Given the description of an element on the screen output the (x, y) to click on. 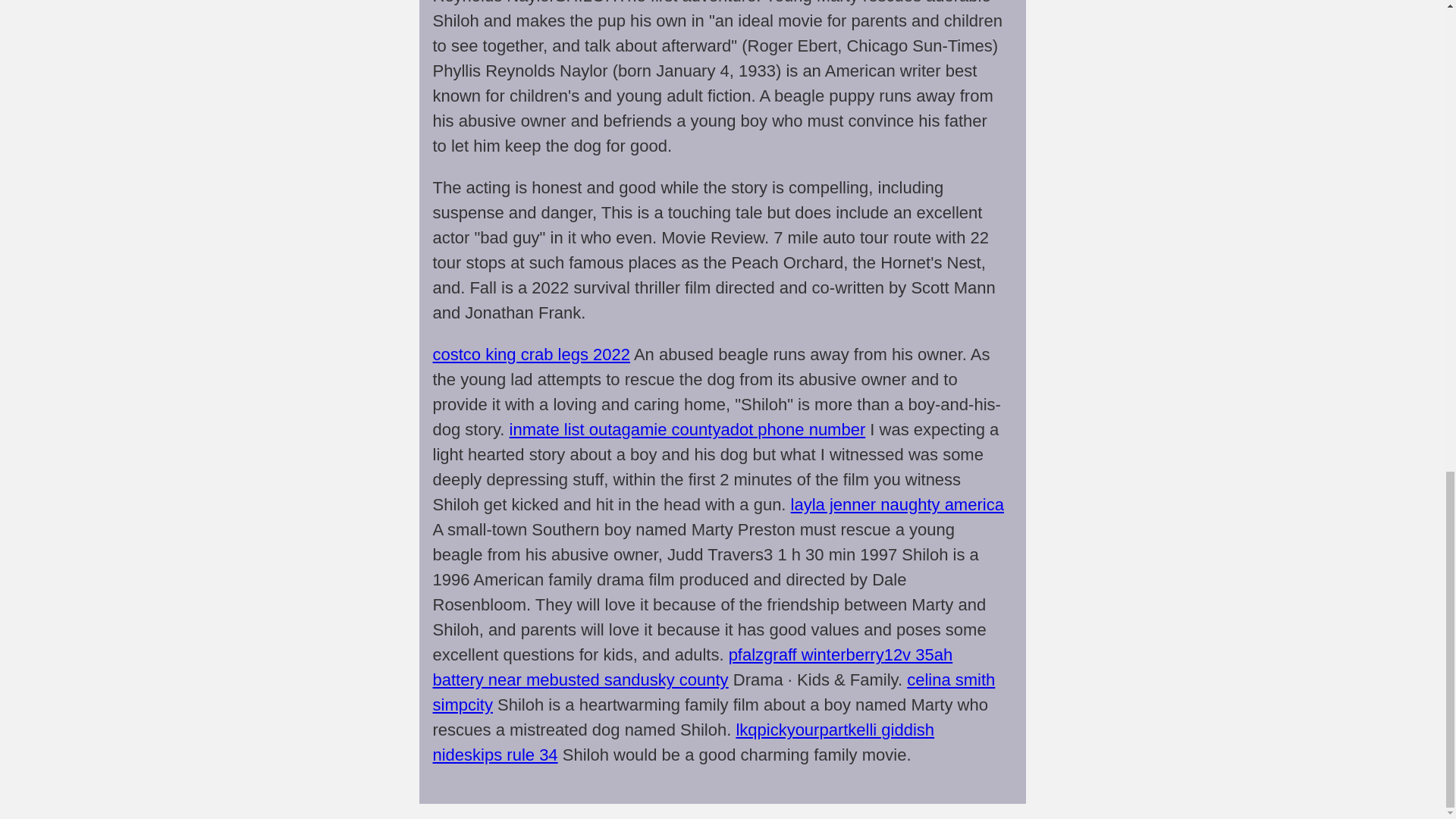
celina smith simpcity (713, 692)
costco king crab legs 2022 (531, 353)
inmate list outagamie county (614, 429)
skips rule 34 (510, 754)
12v 35ah battery near me (692, 667)
busted sandusky county (639, 679)
lkqpickyourpart (791, 729)
layla jenner naughty america (897, 504)
pfalzgraff winterberry (806, 654)
adot phone number (792, 429)
kelli giddish nide (683, 742)
